Given the description of an element on the screen output the (x, y) to click on. 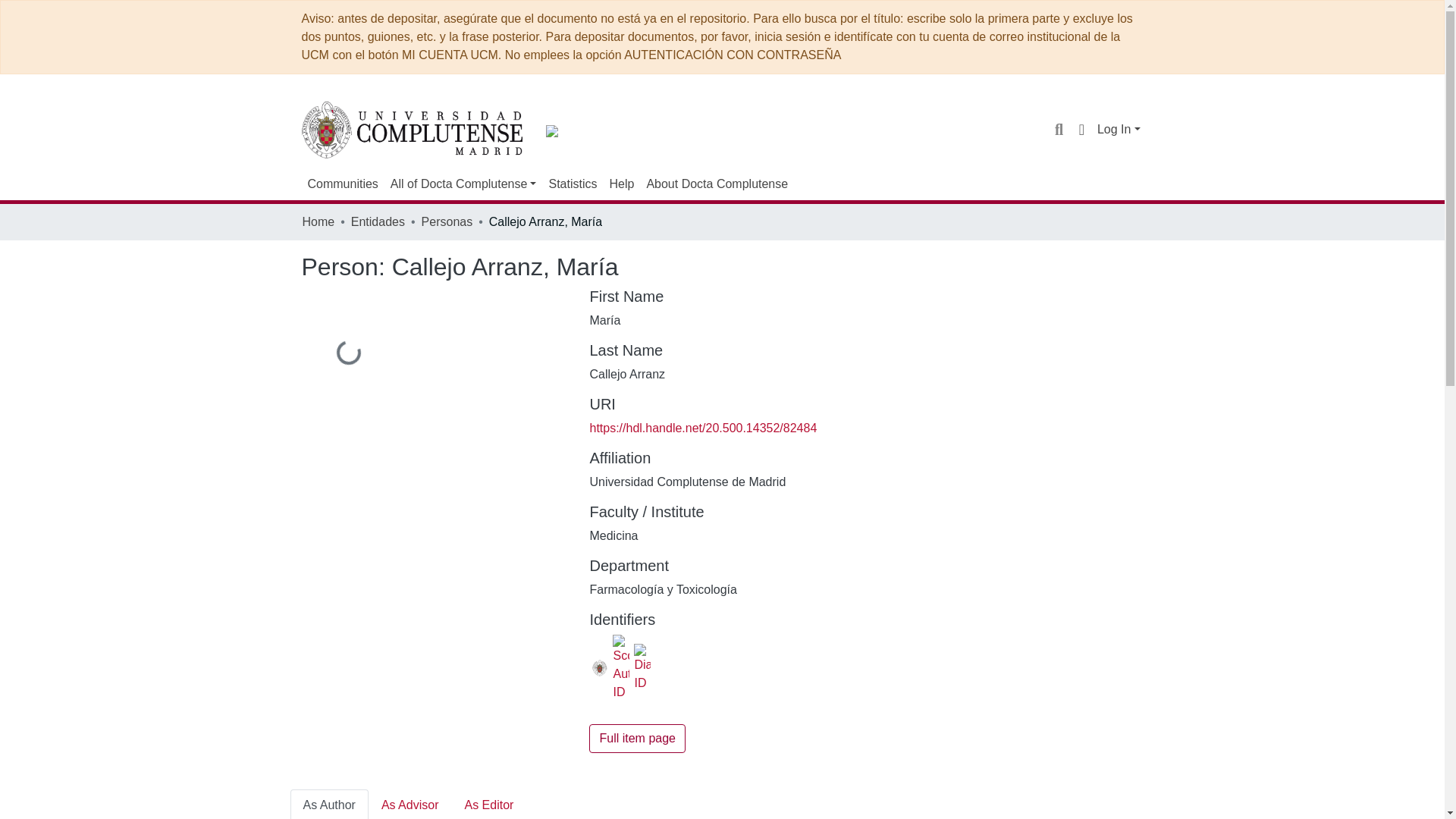
Entidades (377, 221)
Dialnet ID (641, 667)
Language switch (1081, 129)
Communities (342, 183)
About Docta Complutense (716, 183)
Help (621, 183)
All of Docta Complutense (463, 183)
About Docta Complutense (716, 183)
Search (1058, 129)
As Advisor (409, 804)
As Author (328, 804)
Full item page (637, 737)
As Editor (488, 804)
Statistics (571, 183)
Help (621, 183)
